Given the description of an element on the screen output the (x, y) to click on. 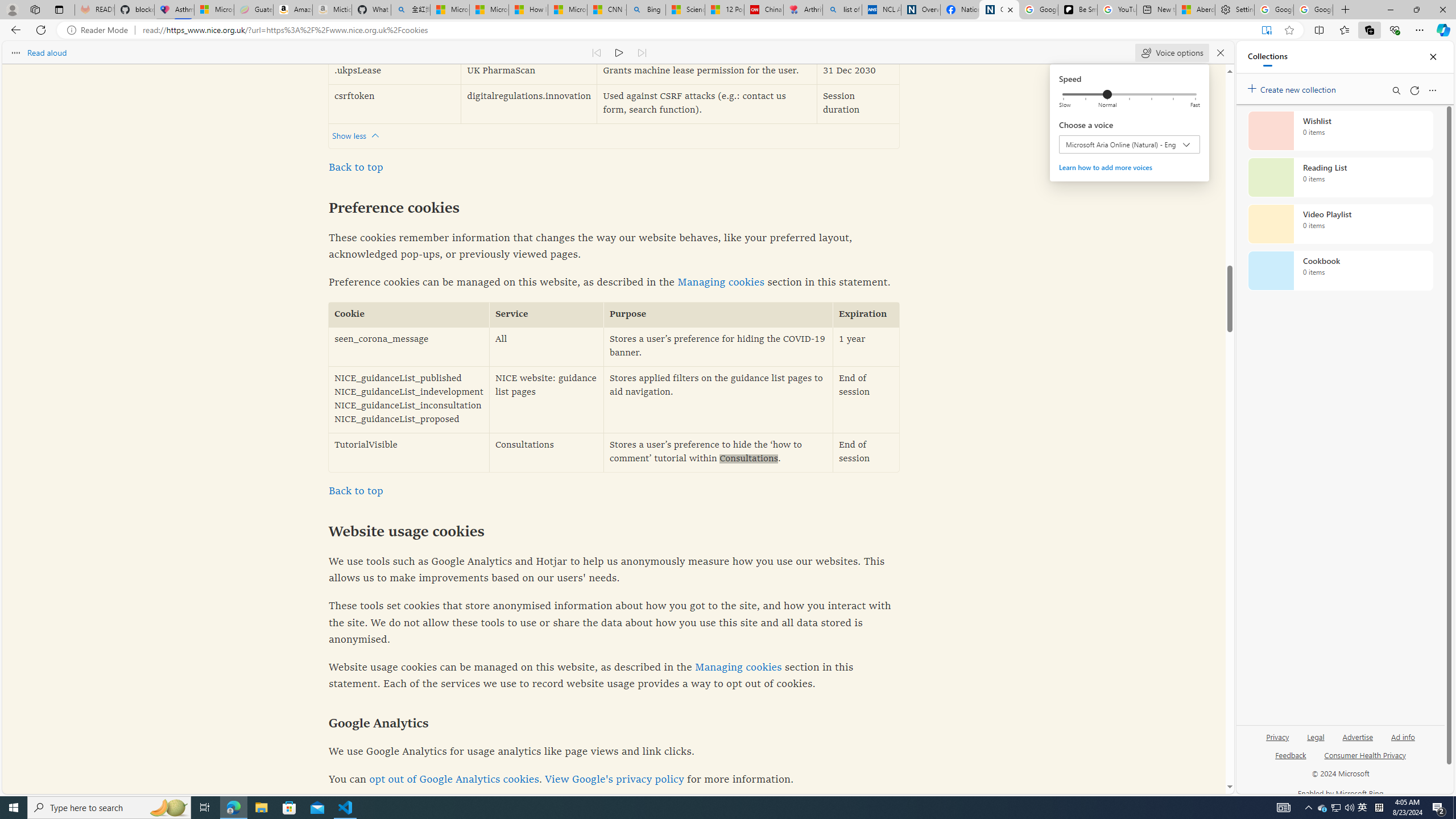
NCL Adult Asthma Inhaler Choice Guideline (881, 9)
31 Dec 2030 (857, 71)
Session duration (857, 103)
Grants machine lease permission for the user. (706, 71)
Advertise (1358, 741)
All (546, 346)
Feedback (1290, 754)
Cookbook collection, 0 items (1339, 270)
Read previous paragraph (596, 52)
Ad info (1402, 736)
Be Smart | creating Science videos | Patreon (1077, 9)
